Given the description of an element on the screen output the (x, y) to click on. 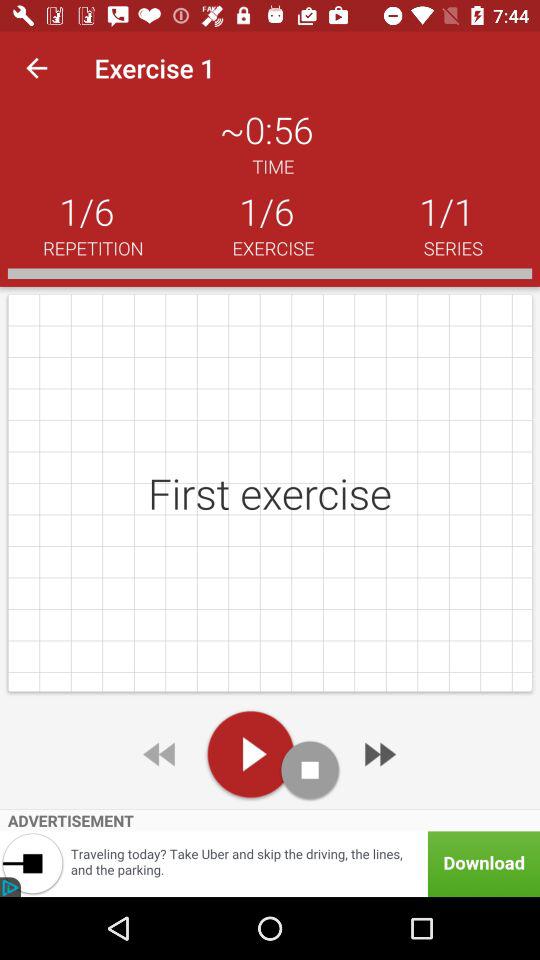
advertisement (270, 864)
